Given the description of an element on the screen output the (x, y) to click on. 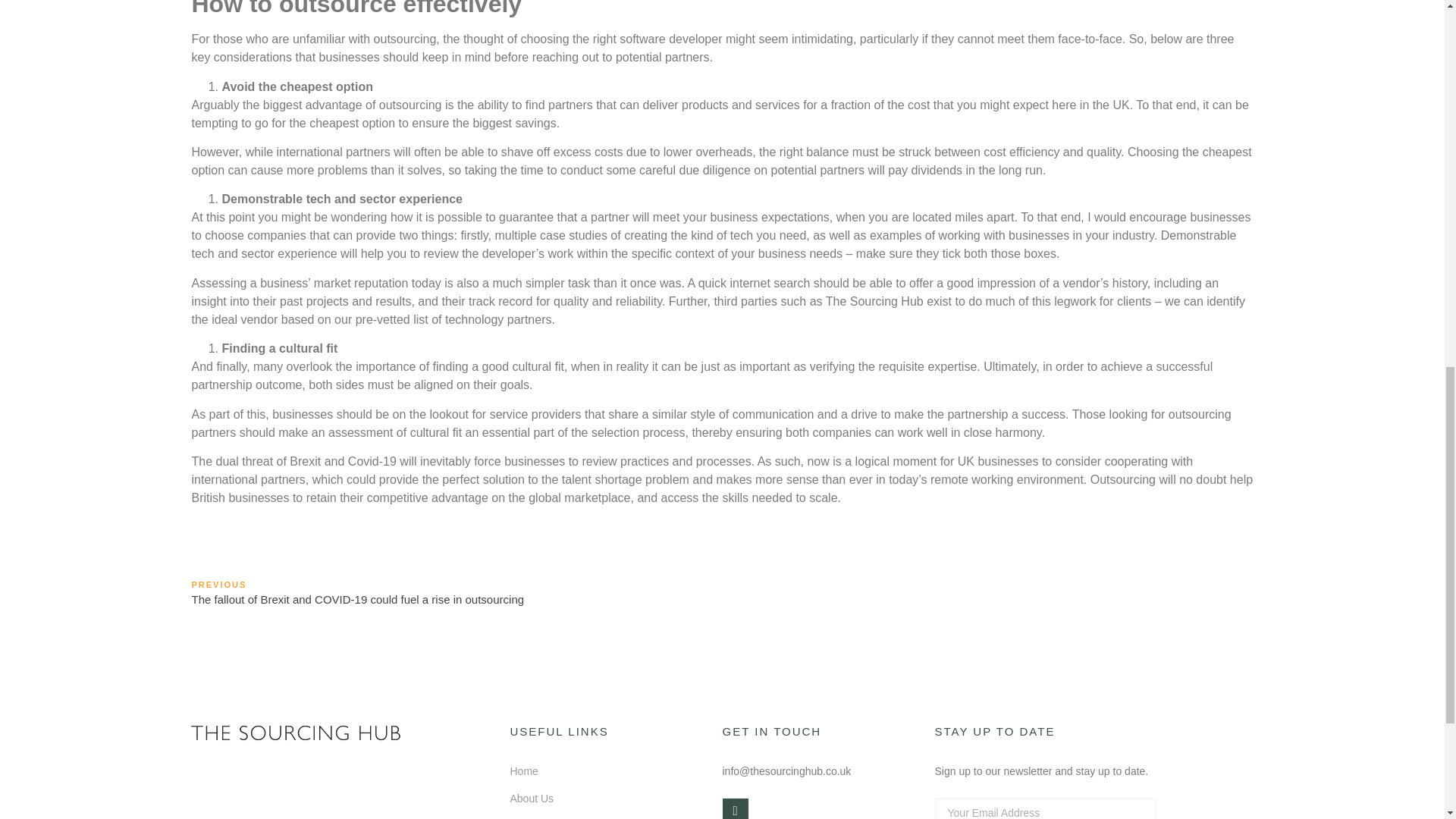
Home (523, 770)
About Us (531, 798)
